Given the description of an element on the screen output the (x, y) to click on. 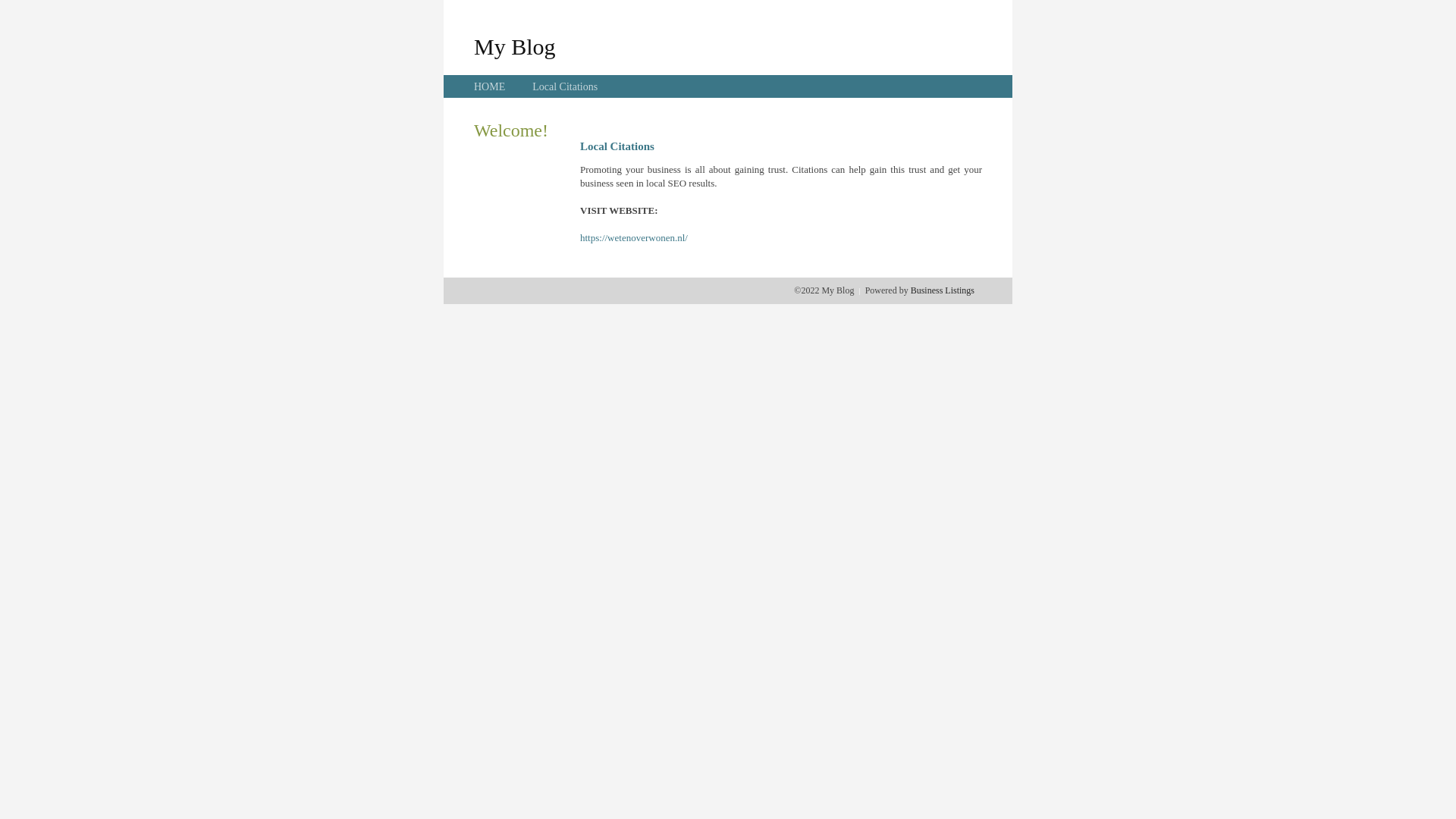
HOME Element type: text (489, 86)
Business Listings Element type: text (942, 290)
https://wetenoverwonen.nl/ Element type: text (633, 237)
My Blog Element type: text (514, 46)
Local Citations Element type: text (564, 86)
